Given the description of an element on the screen output the (x, y) to click on. 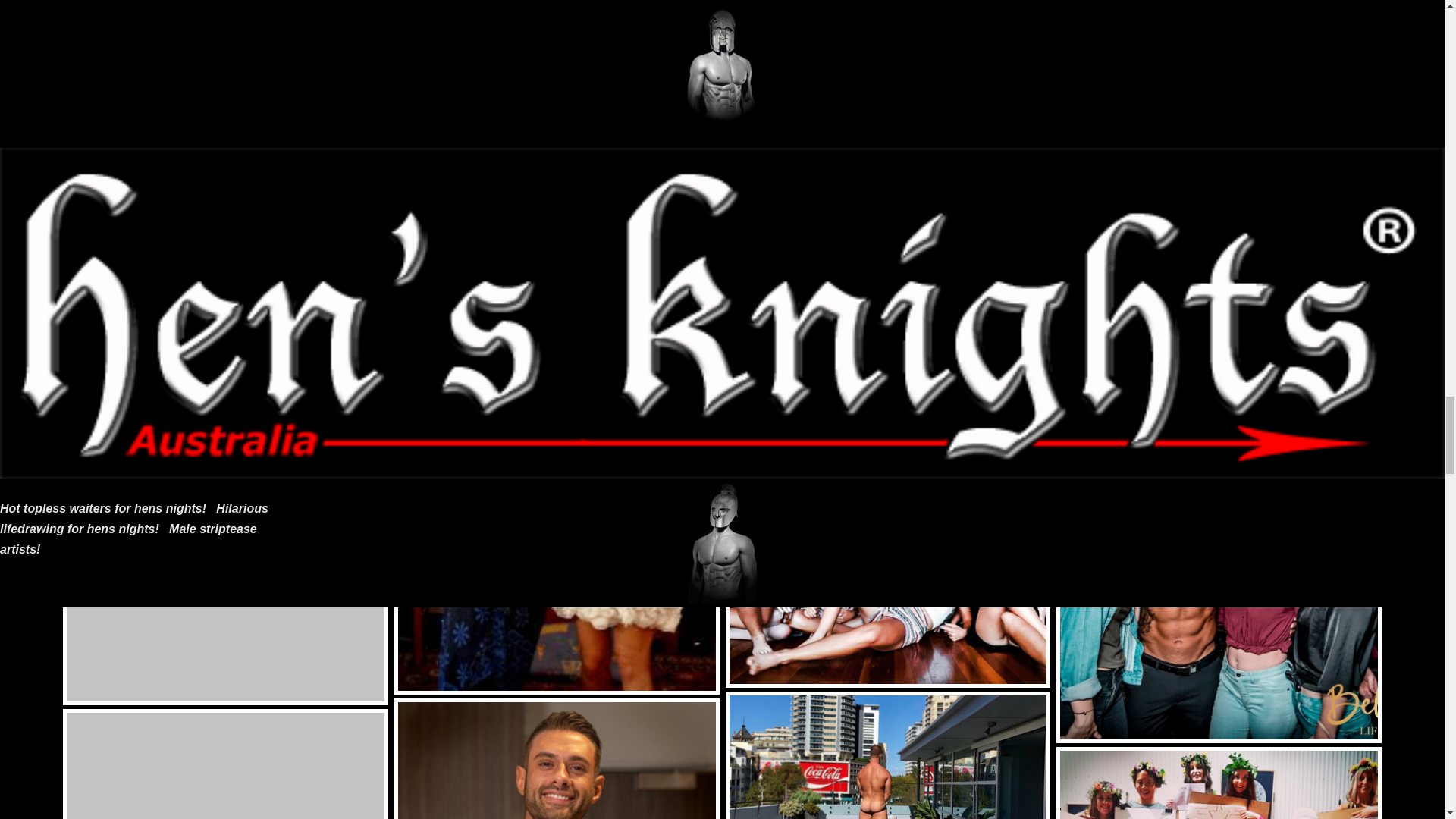
Life Drawing Hens Party in a Melbourne Venue (225, 212)
Live Art Pencil Sketches of Nude Male (225, 23)
Ladies Drinking and Sketching at a Gold Coast Hens Night (225, 542)
